Given the description of an element on the screen output the (x, y) to click on. 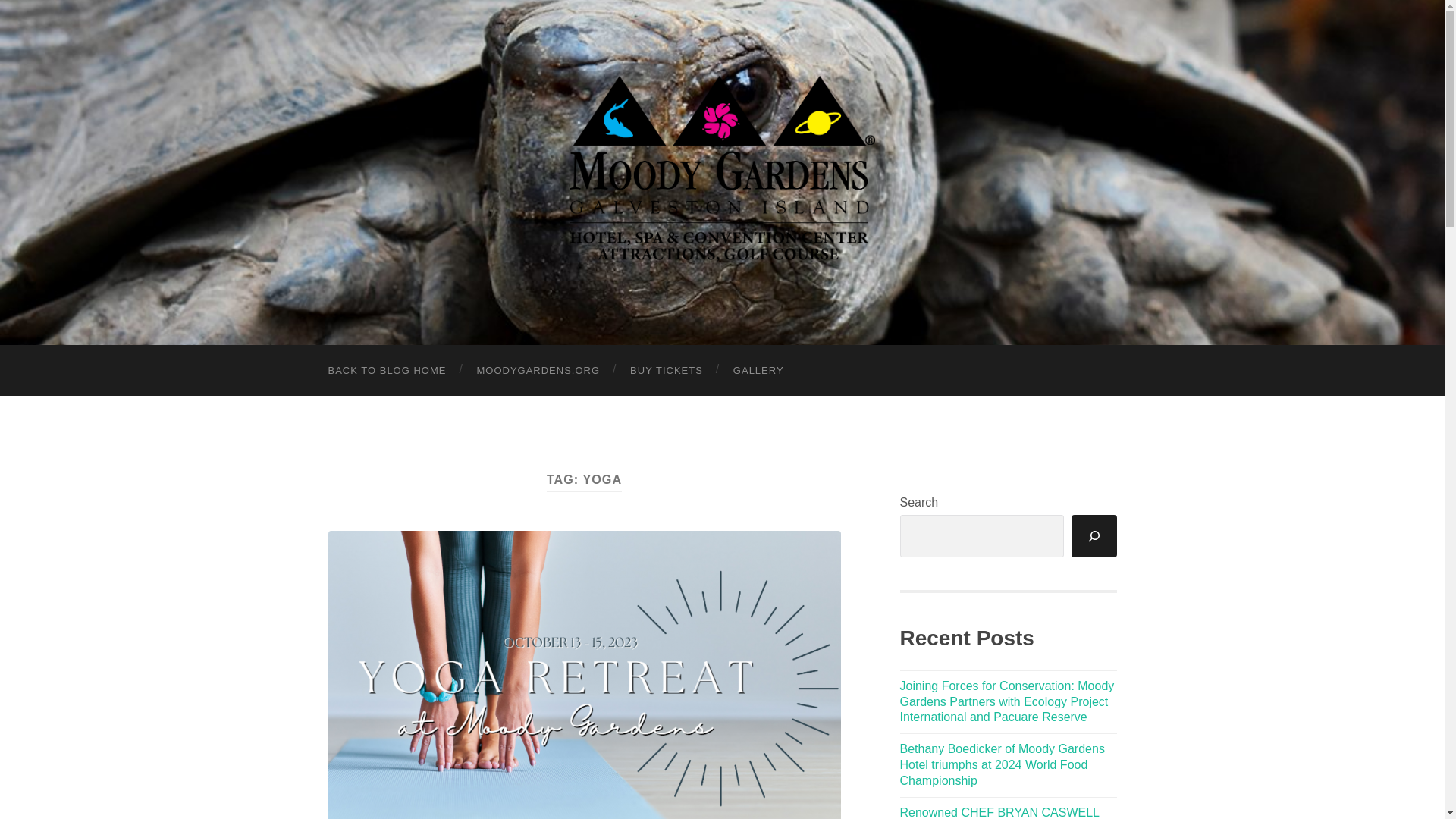
Moody Gardens (722, 170)
BACK TO BLOG HOME (387, 369)
GALLERY (758, 369)
BUY TICKETS (665, 369)
MOODYGARDENS.ORG (537, 369)
